Given the description of an element on the screen output the (x, y) to click on. 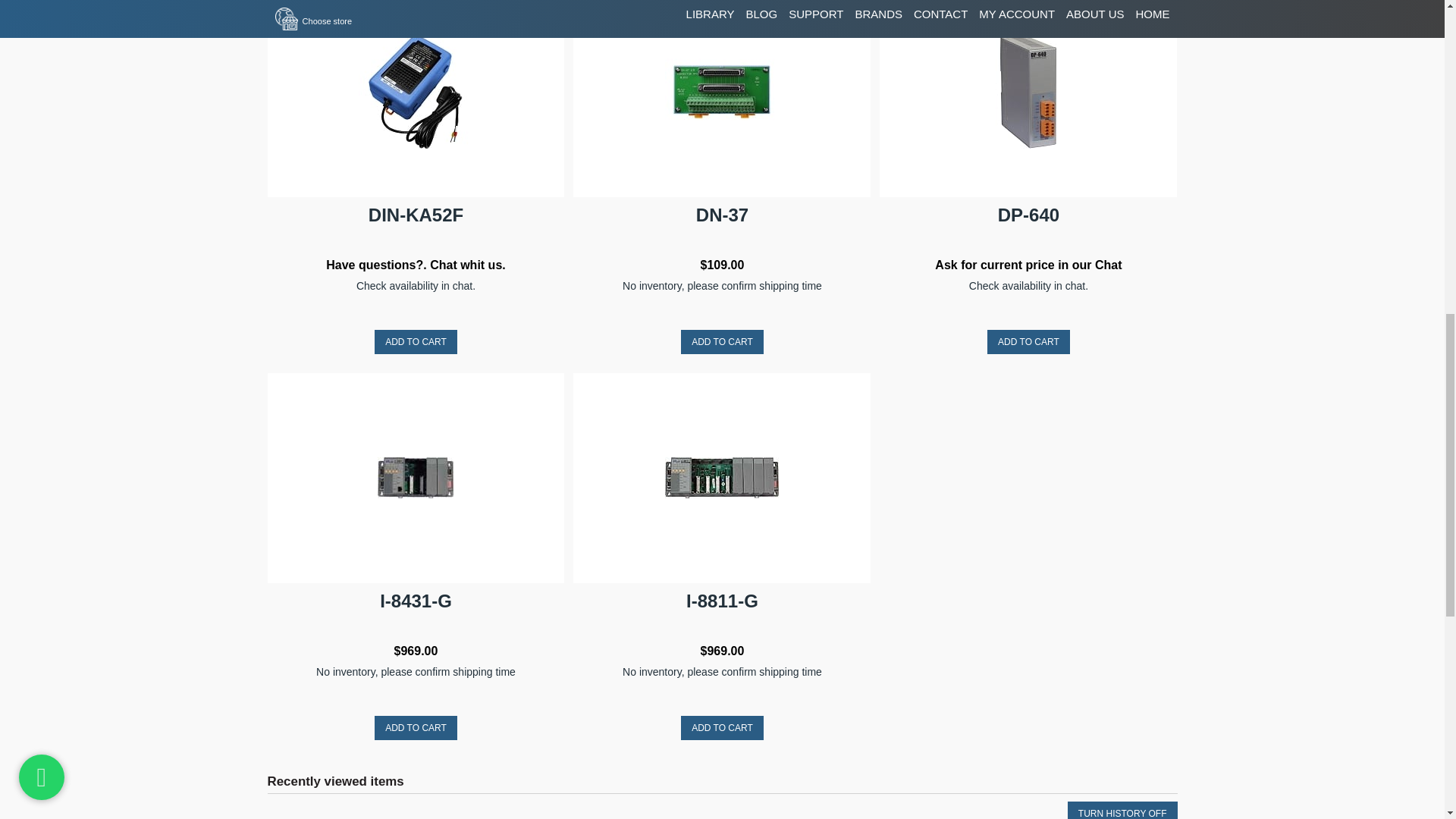
Add to cart (721, 341)
Add to cart (1028, 341)
Add to cart (415, 727)
Add to cart (415, 341)
Turn history off (1122, 810)
Add to cart (721, 727)
